Given the description of an element on the screen output the (x, y) to click on. 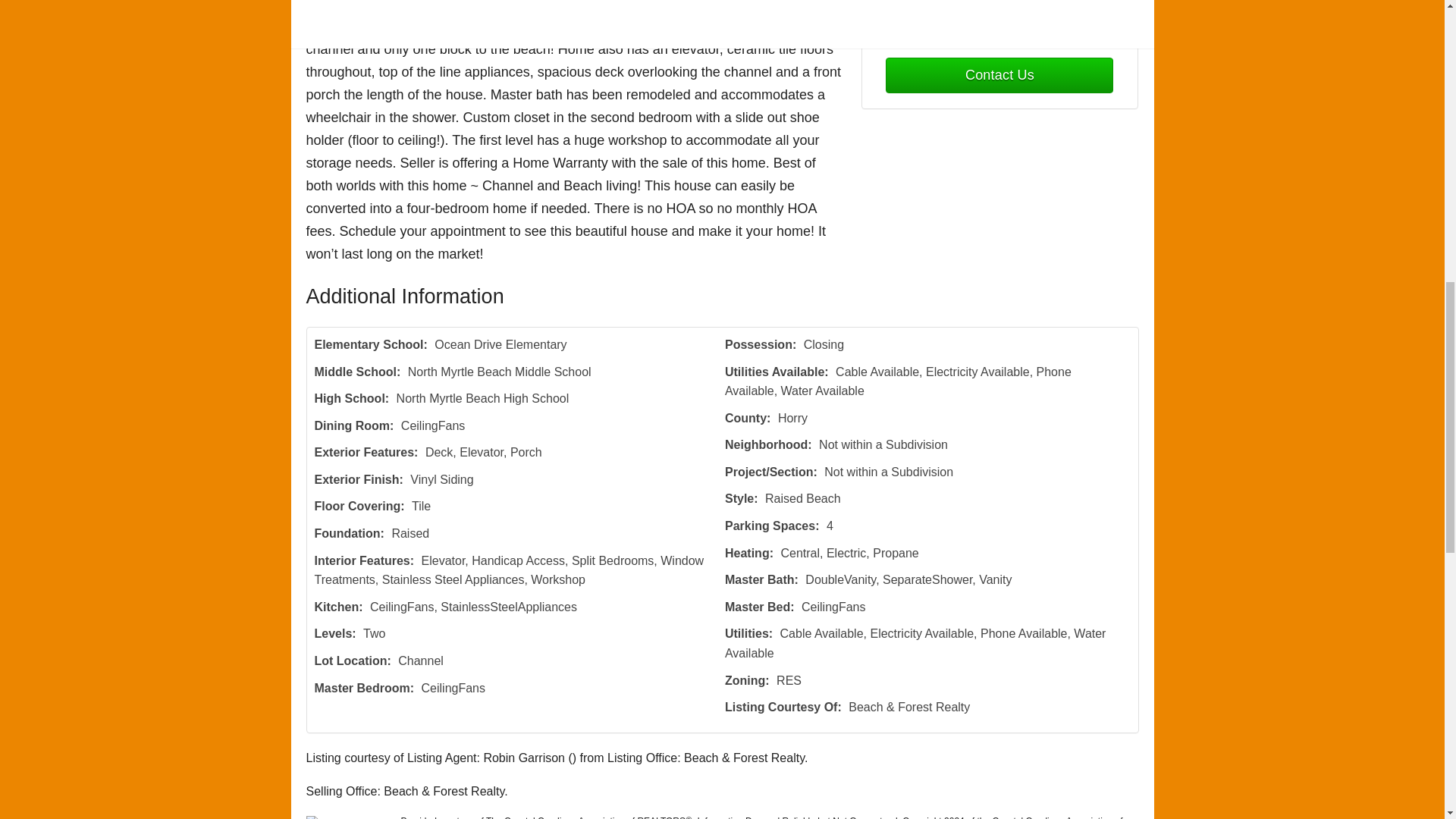
843-839-9870 (999, 28)
Contact Us (999, 75)
